Given the description of an element on the screen output the (x, y) to click on. 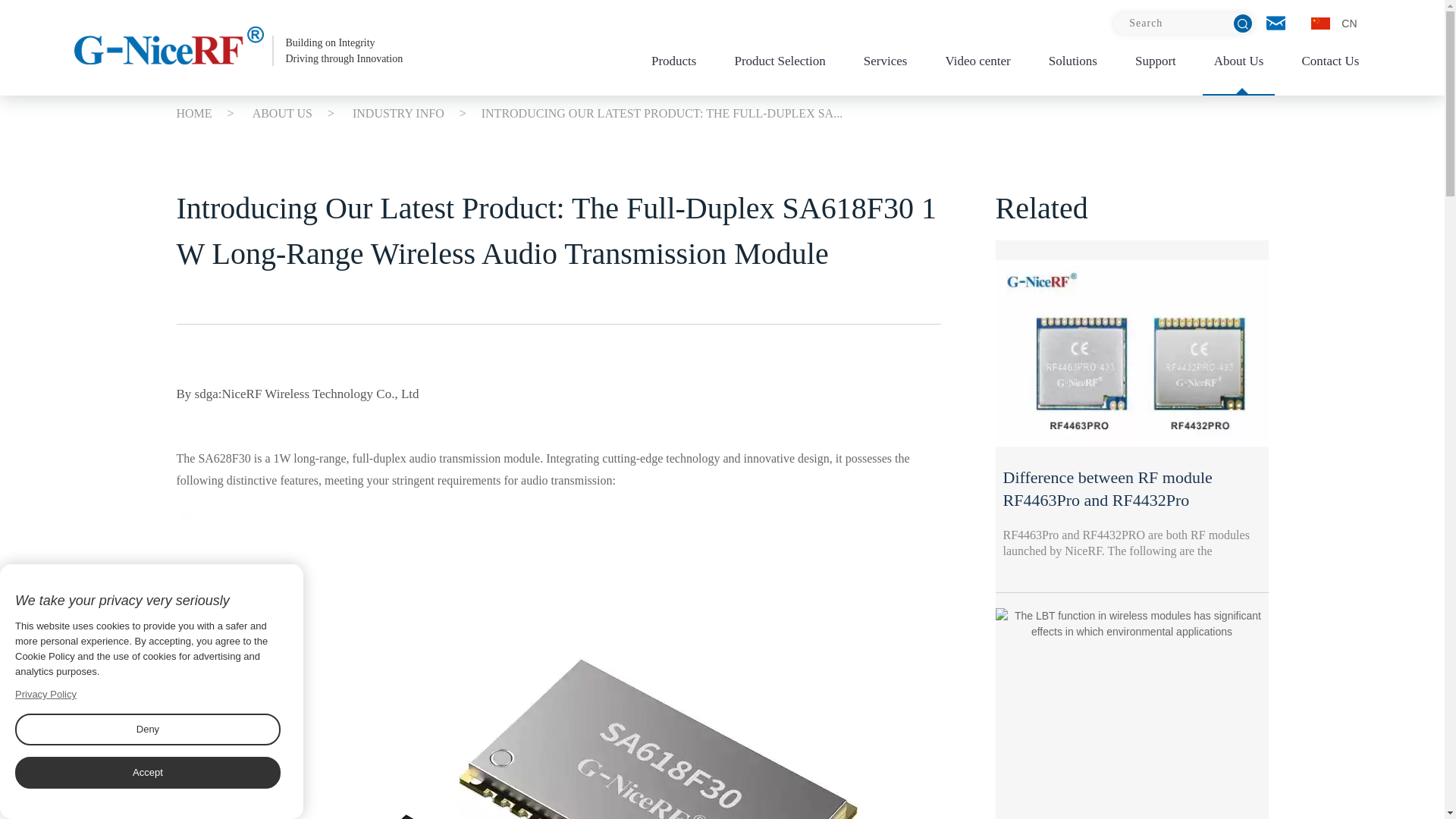
Search (1183, 23)
Products (673, 64)
CN (238, 50)
Products (1333, 23)
